Given the description of an element on the screen output the (x, y) to click on. 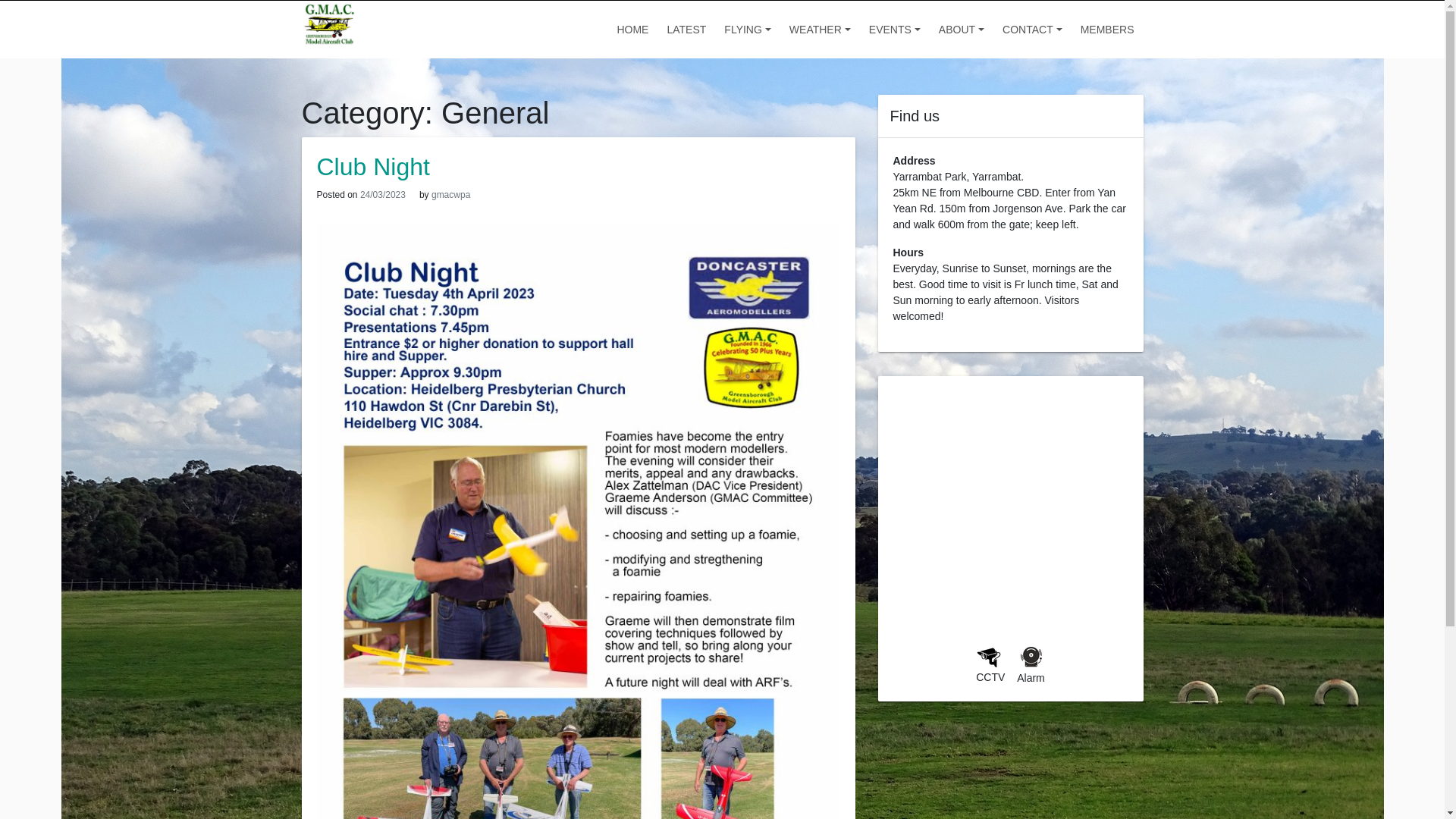
FLYING Element type: text (747, 29)
MEMBERS Element type: text (1107, 29)
HOME Element type: text (632, 29)
ABOUT Element type: text (961, 29)
WEATHER Element type: text (819, 29)
LATEST Element type: text (686, 29)
24/03/2023 Element type: text (382, 194)
Club Night Element type: text (372, 166)
CONTACT Element type: text (1032, 29)
EVENTS Element type: text (894, 29)
GMAC Element type: text (343, 63)
gmacwpa Element type: text (450, 194)
